Given the description of an element on the screen output the (x, y) to click on. 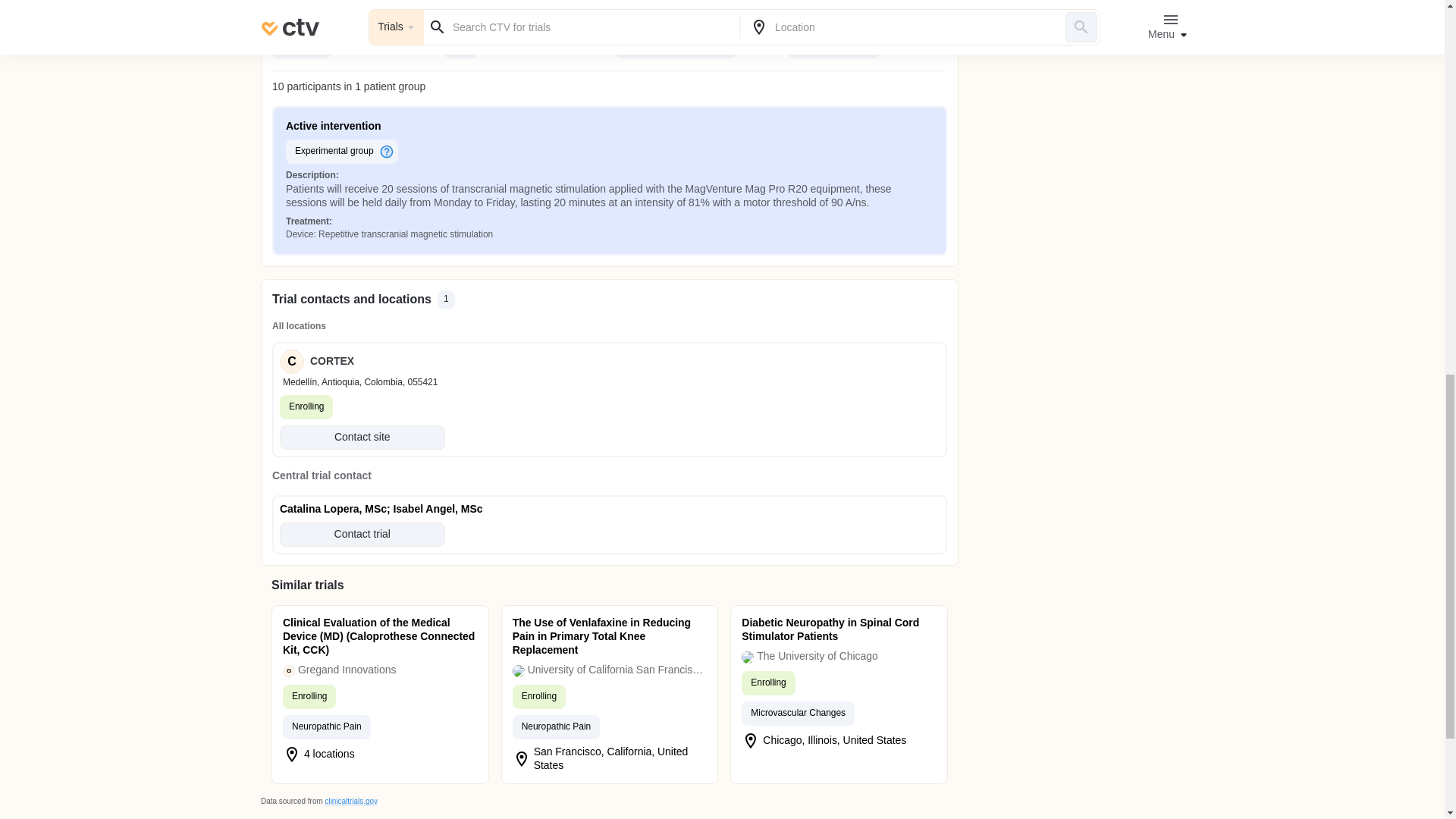
clinicaltrials.gov (350, 800)
Contact trial (362, 534)
Contact site (362, 437)
